Given the description of an element on the screen output the (x, y) to click on. 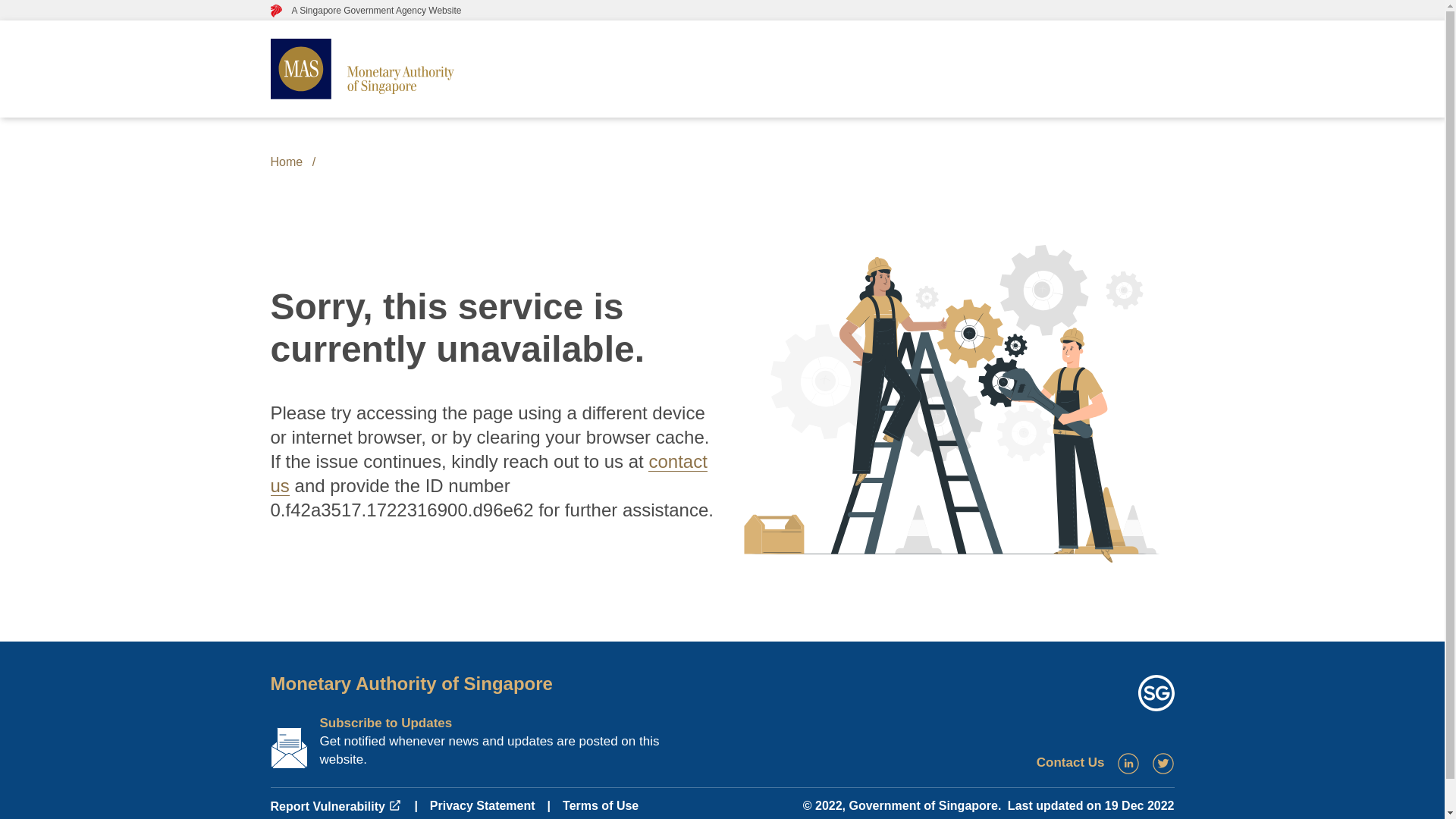
Privacy Statement (482, 805)
Monetary Authority of Singapore (410, 683)
Terms of Use (600, 805)
Report Vulnerability (335, 806)
Contact Us (1070, 762)
A Singapore Government Agency Website (365, 10)
contact us (487, 473)
Home (285, 161)
